Given the description of an element on the screen output the (x, y) to click on. 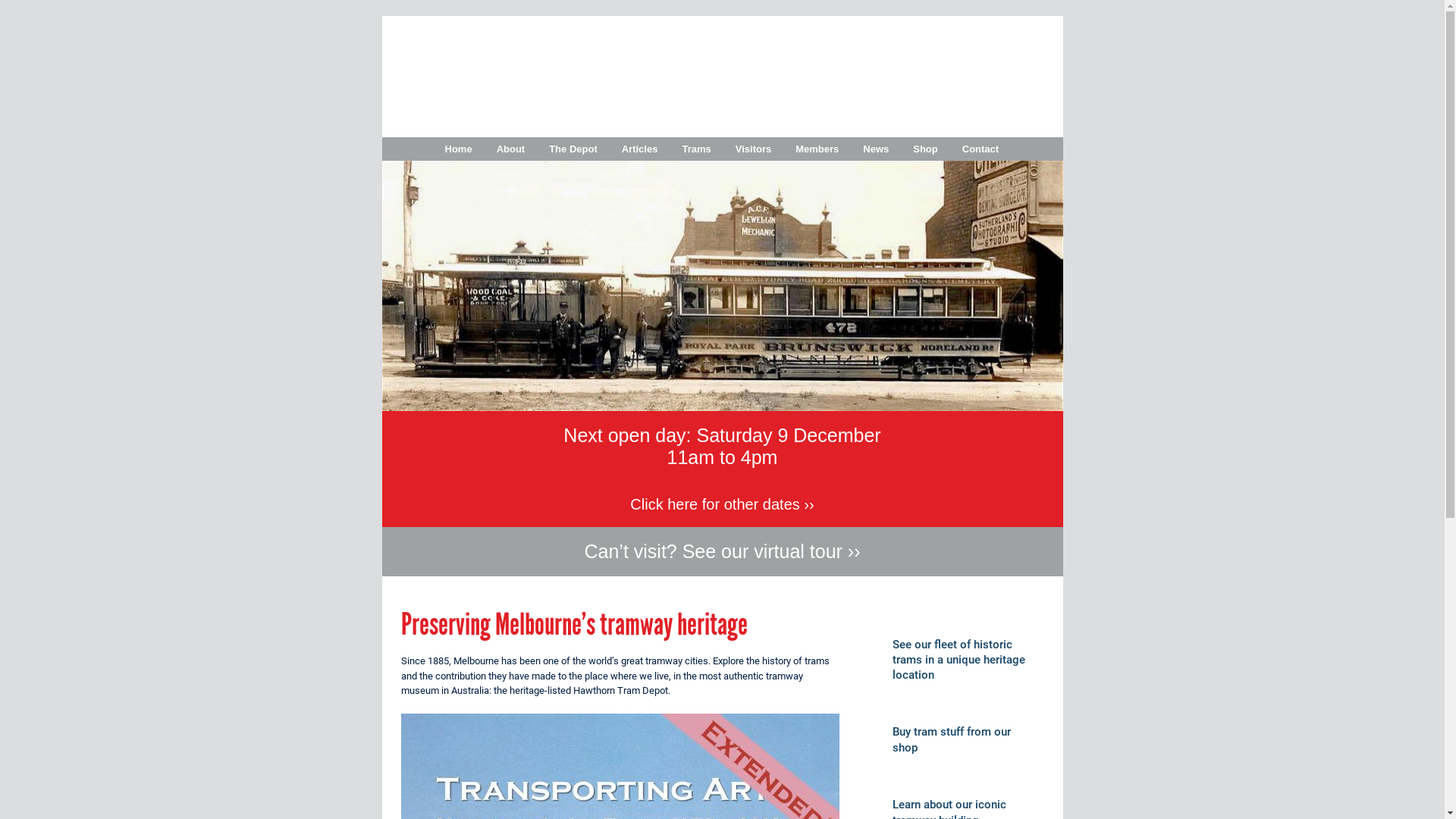
Visitors Element type: text (753, 148)
Follow Melbourne Tram Museum on Pinterest Element type: hover (1434, 165)
Members Element type: text (817, 148)
The Depot Element type: text (572, 148)
Articles Element type: text (639, 148)
Follow Melbourne Tram Museum on Facebook Element type: hover (1434, 127)
Follow Melbourne Tram Museum on Instagram Element type: hover (1434, 146)
Home Element type: text (458, 148)
News Element type: text (875, 148)
Next open day: Saturday 9 December
11am to 4pm Element type: text (721, 445)
Email Melbourne Tram Museum Element type: hover (1434, 222)
Buy tram stuff from our shop Element type: text (951, 738)
Follow Melbourne Tram Museum on Tumblr Element type: hover (1434, 184)
Contact Element type: text (980, 148)
Shop Element type: text (925, 148)
Subscribe to Melbourne Tram Museum's RSS feed Element type: hover (1434, 203)
Follow Melbourne Tram Museum on Twitter Element type: hover (1434, 108)
About Element type: text (510, 148)
Trams Element type: text (695, 148)
